Given the description of an element on the screen output the (x, y) to click on. 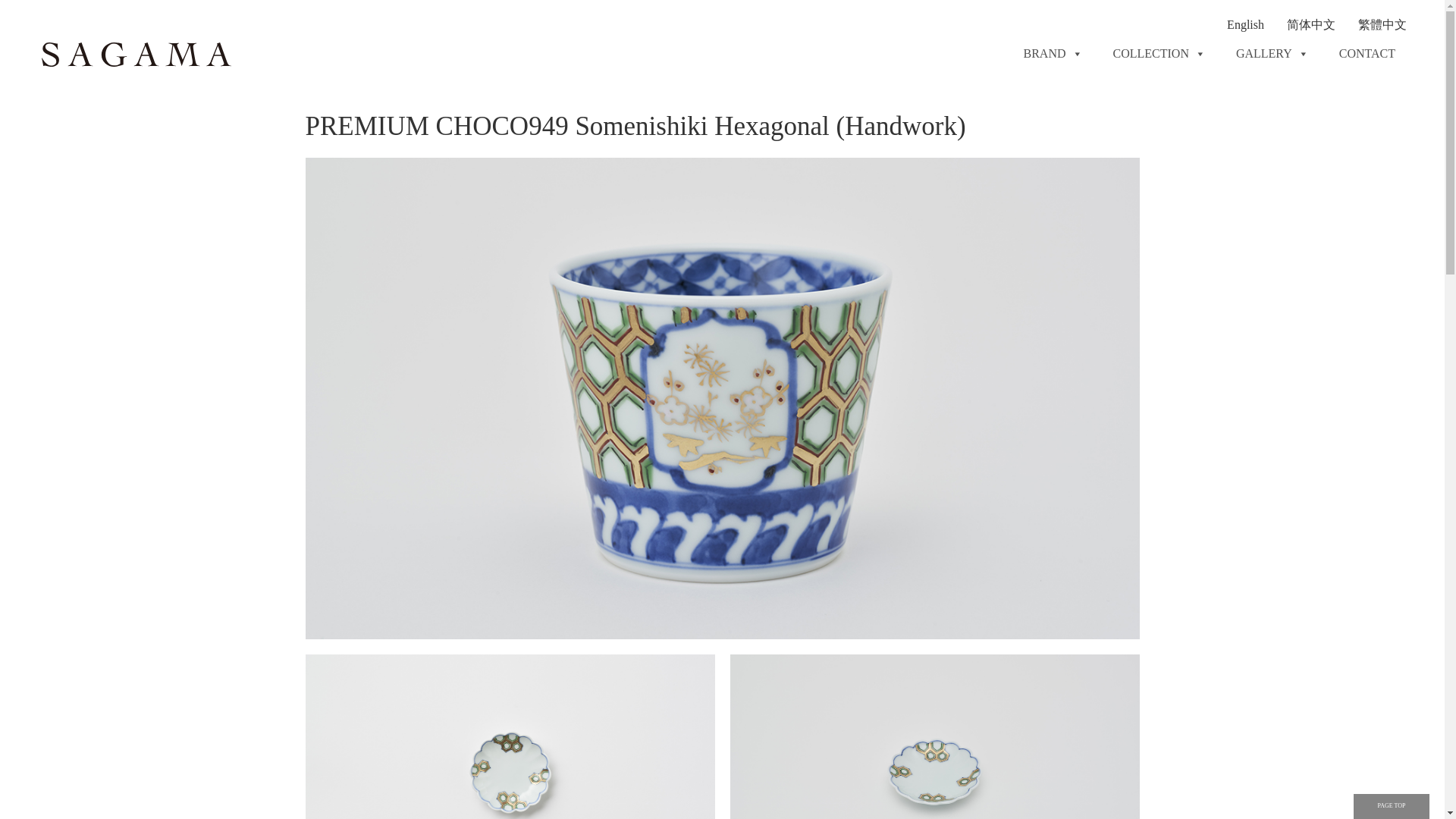
English (1245, 24)
PAGE TOP (1391, 806)
CONTACT (1366, 53)
COLLECTION (1157, 53)
BRAND (1052, 53)
GALLERY (1272, 53)
English (1245, 24)
